Given the description of an element on the screen output the (x, y) to click on. 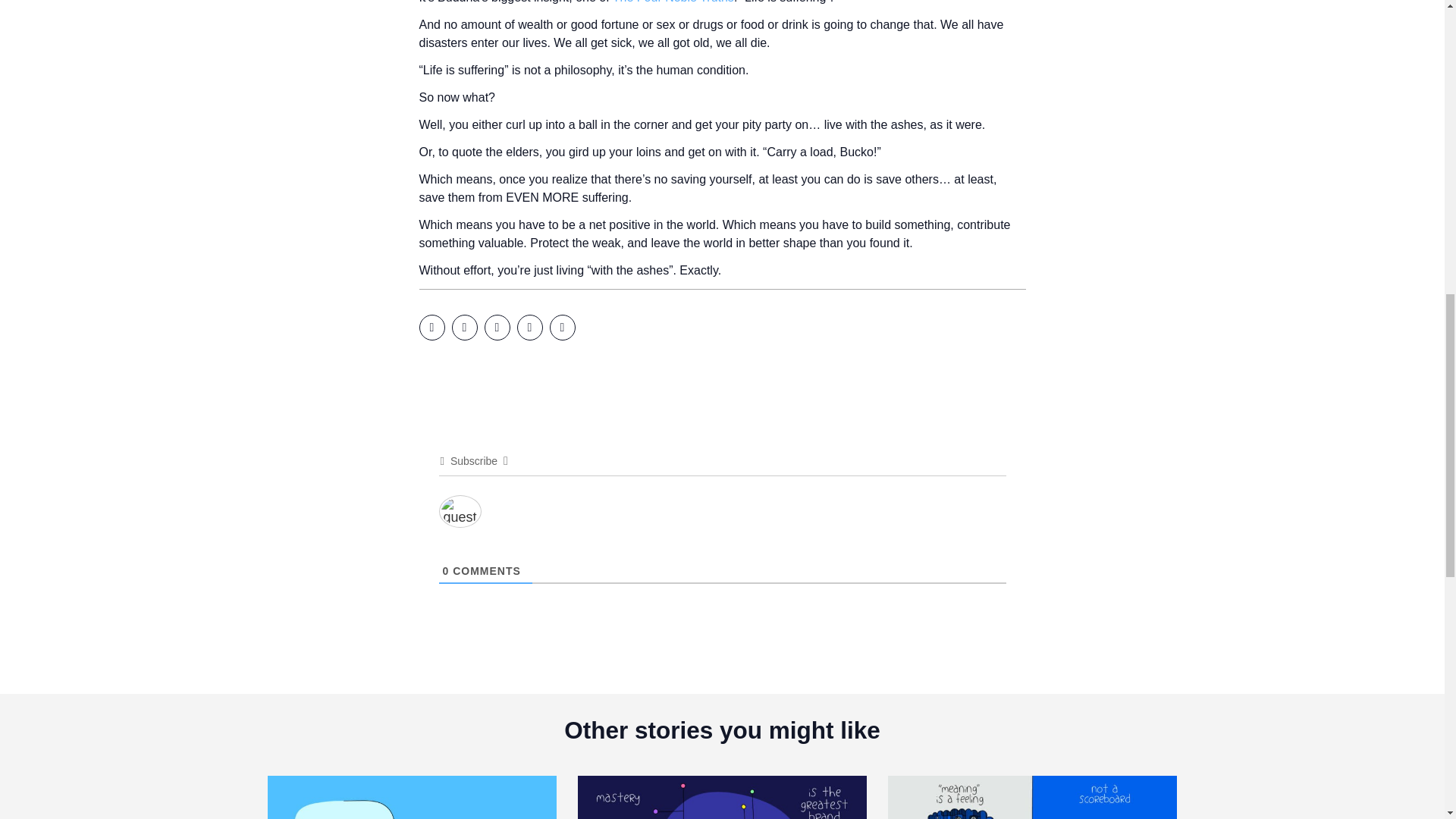
Tweet this ! (464, 327)
 The Four Noble Truths (671, 2)
Add this to LinkedIn (496, 327)
Submit this to Pinterest (529, 327)
Email this  (561, 327)
Share this on Facebook (431, 327)
